Given the description of an element on the screen output the (x, y) to click on. 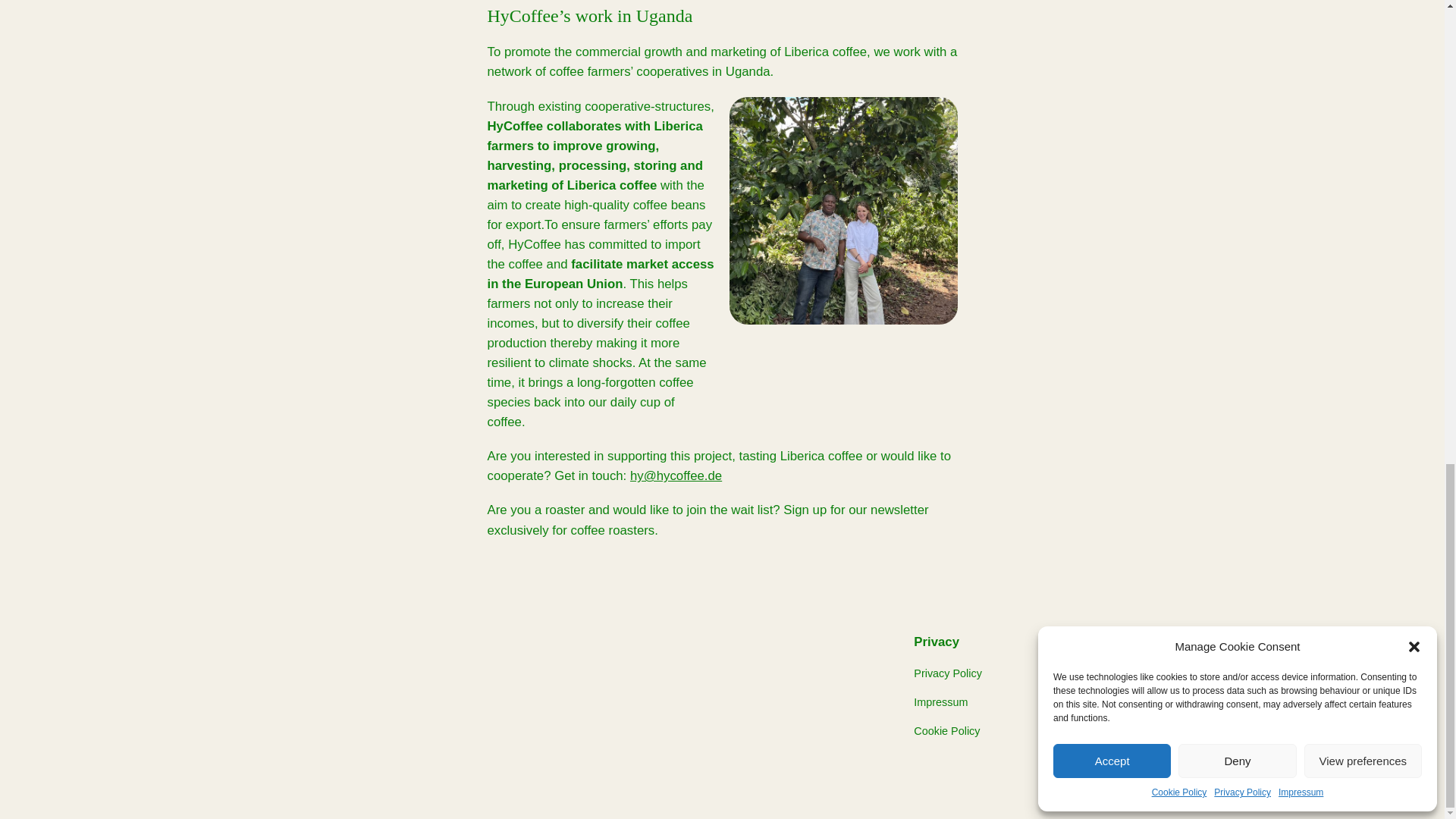
Cookie Policy (946, 730)
Instagram (1182, 701)
LinkedIn (1178, 673)
Impressum (941, 701)
Privacy Policy (947, 673)
